Given the description of an element on the screen output the (x, y) to click on. 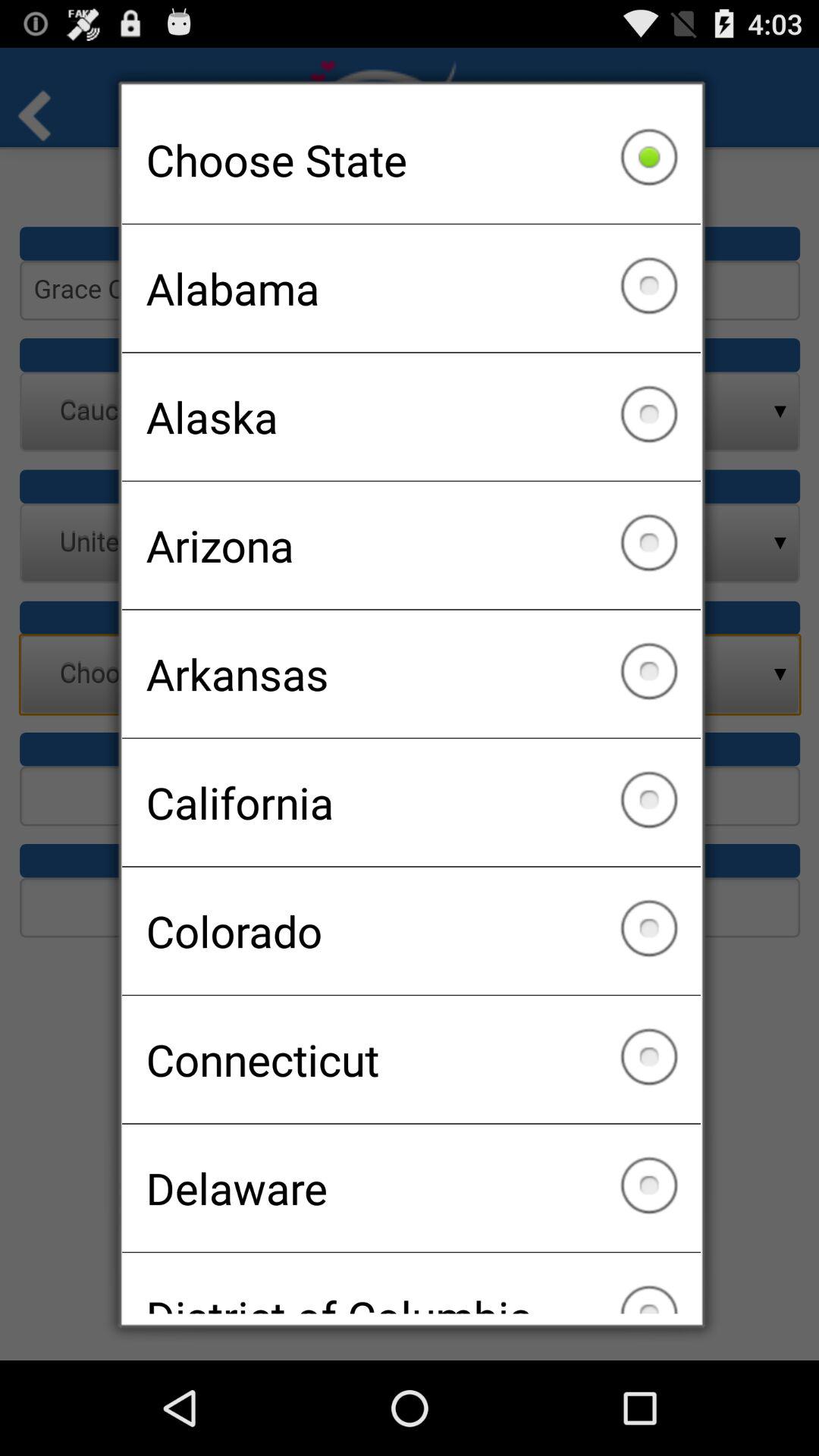
tap the district of columbia item (411, 1282)
